Given the description of an element on the screen output the (x, y) to click on. 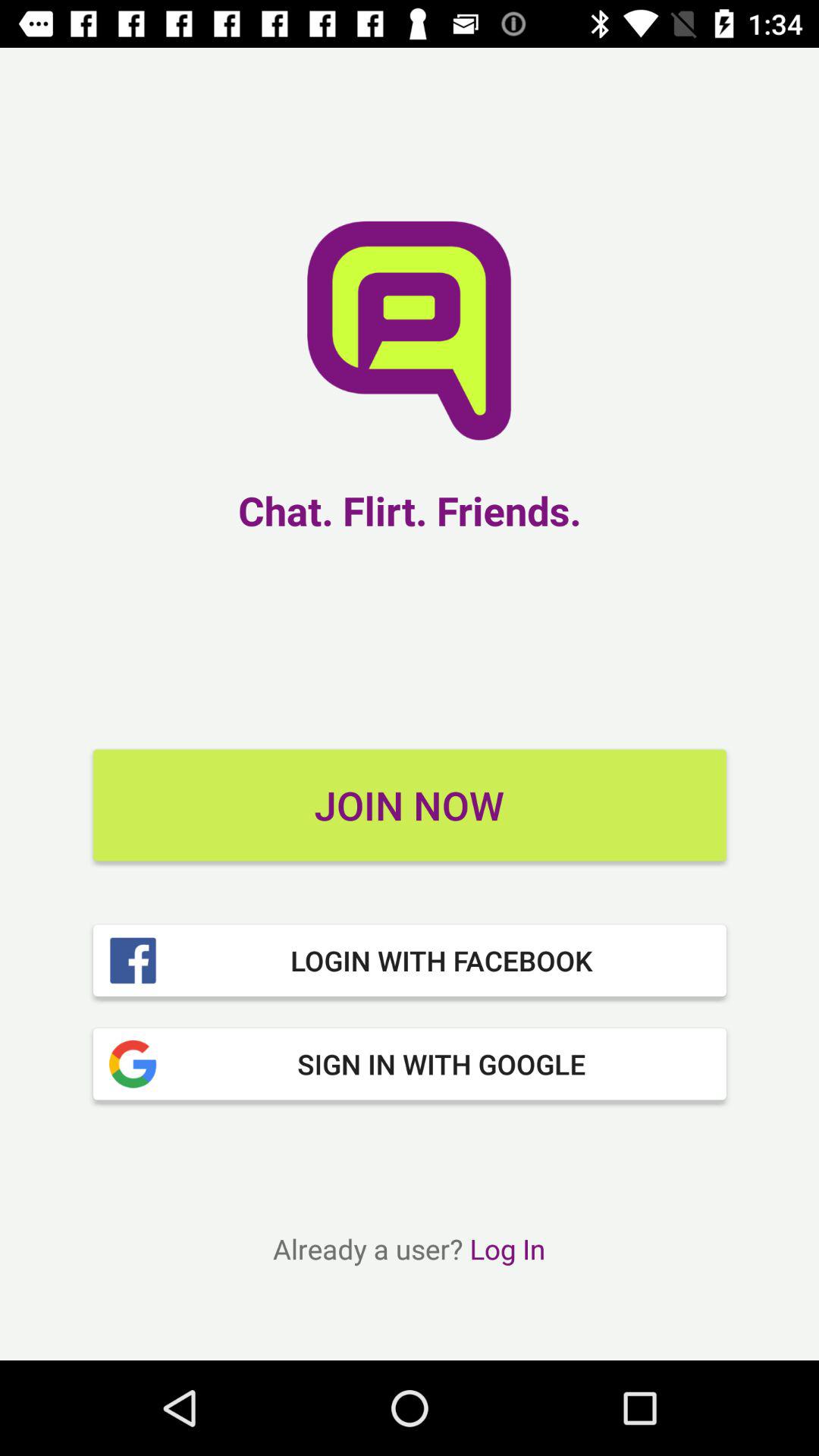
tap the login with facebook item (409, 960)
